Given the description of an element on the screen output the (x, y) to click on. 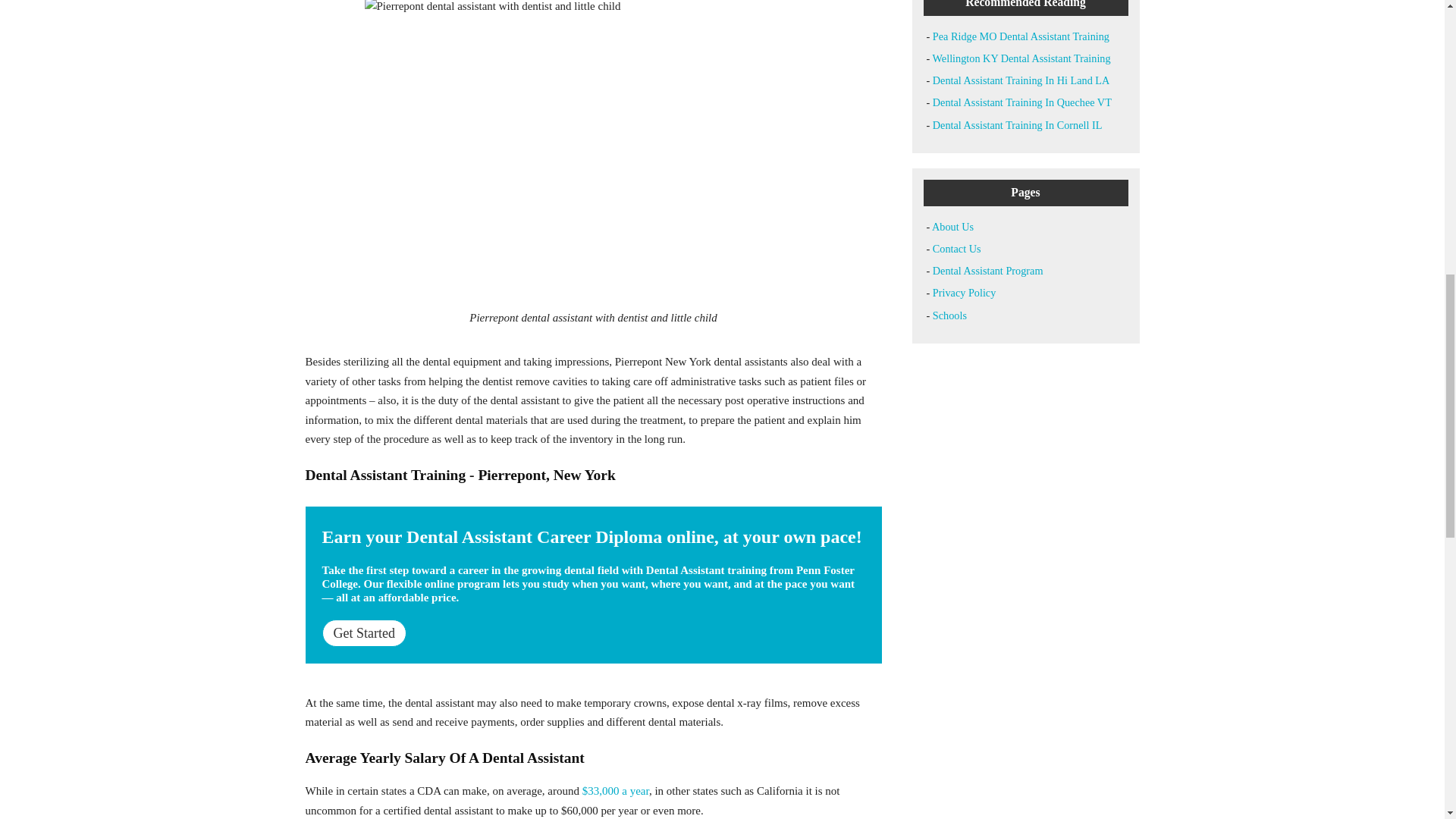
Get Started (363, 633)
Wellington KY Dental Assistant Training (1021, 58)
Privacy Policy (964, 292)
Pea Ridge MO Dental Assistant Training (1021, 36)
About Us (952, 226)
Dental Assistant Training In Cornell IL (1017, 124)
Dental Assistant Training In Quechee VT (1022, 102)
Dental Assistant Training In Hi Land LA (1021, 80)
Dental Assistant Program (988, 270)
Contact Us (957, 248)
Schools (949, 315)
